Given the description of an element on the screen output the (x, y) to click on. 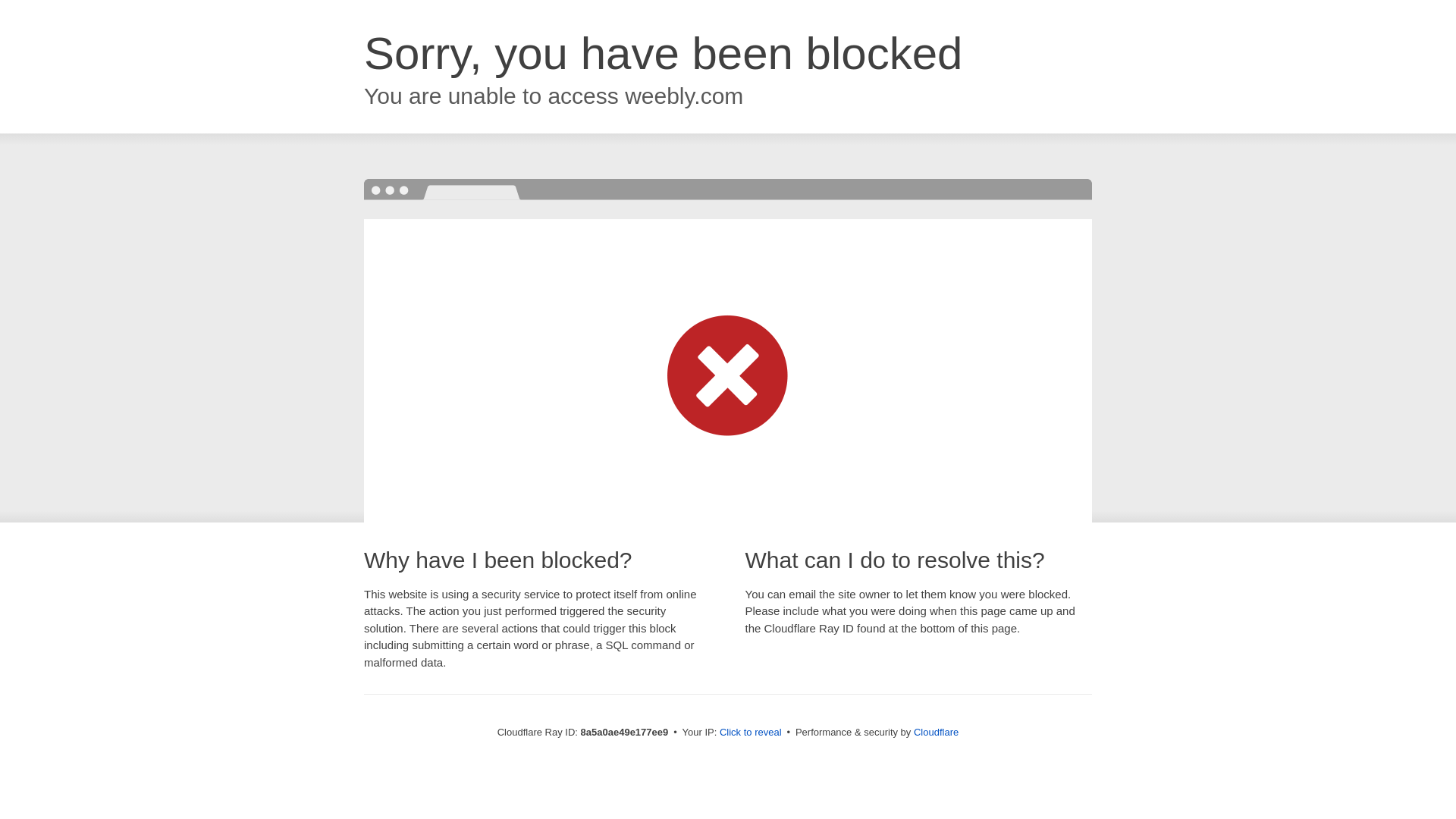
Cloudflare (936, 731)
Click to reveal (750, 732)
